Given the description of an element on the screen output the (x, y) to click on. 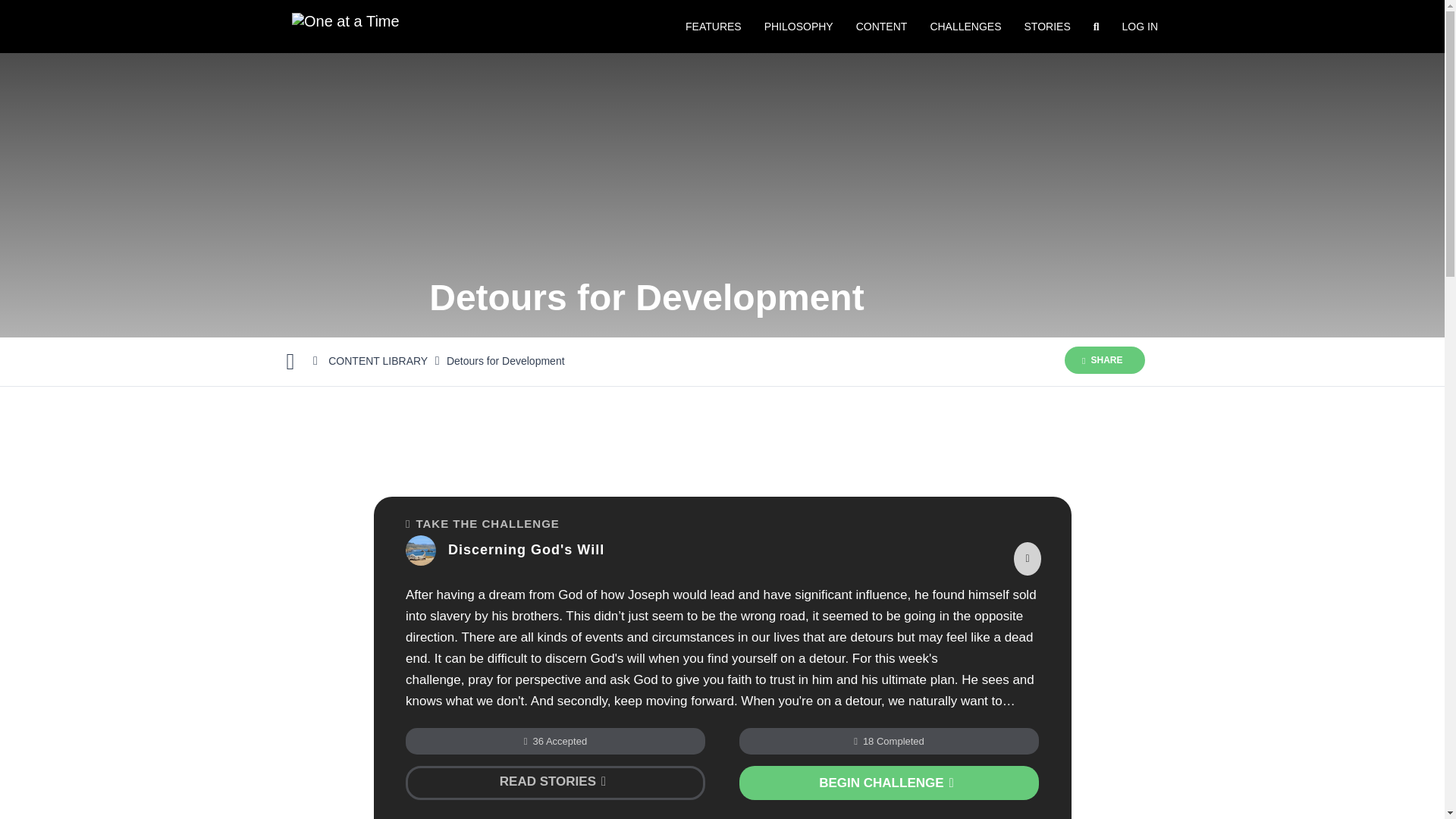
STORIES (1047, 26)
SHARE (1104, 359)
PHILOSOPHY (798, 26)
CONTENT (881, 26)
Southeast Christian Church (460, 740)
FEATURES (713, 26)
CONTENT LIBRARY (378, 360)
CHALLENGES (964, 26)
LOG IN (1139, 26)
